Given the description of an element on the screen output the (x, y) to click on. 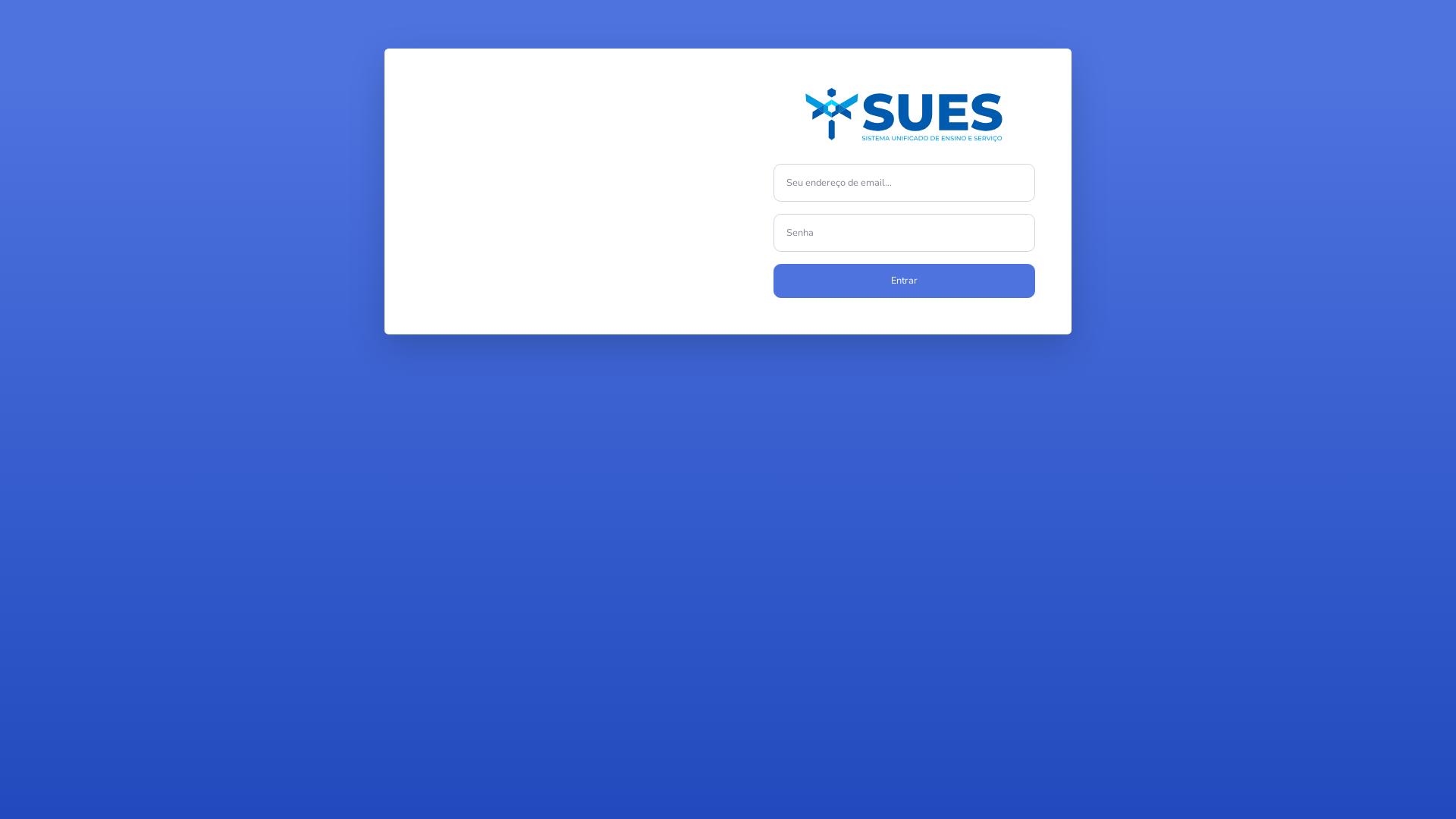
Entrar Element type: text (904, 280)
